Given the description of an element on the screen output the (x, y) to click on. 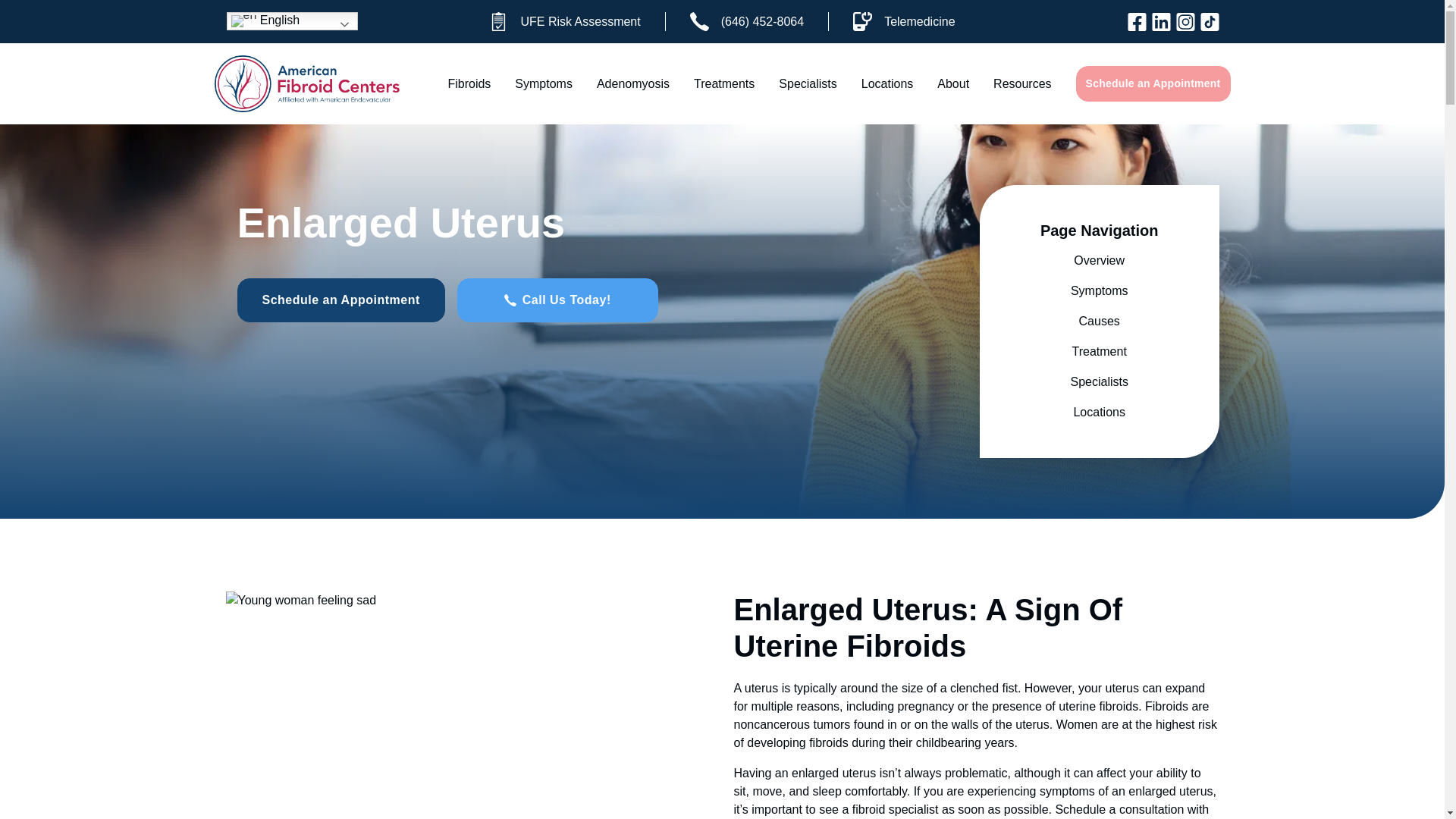
English (290, 21)
Telemedicine (903, 21)
UFE Risk Assessment (564, 21)
